Given the description of an element on the screen output the (x, y) to click on. 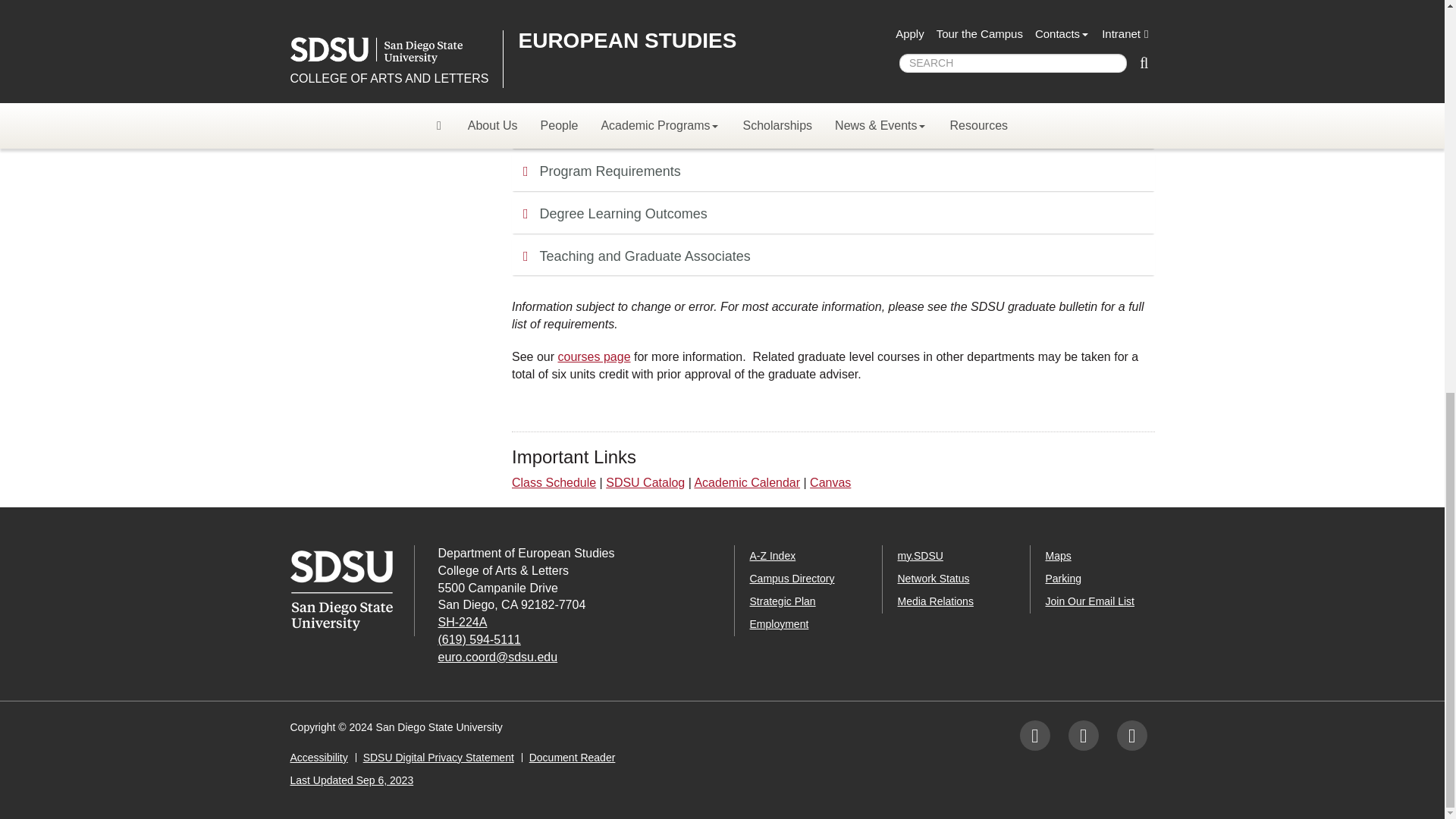
Departments and Offices (771, 555)
San Diego State University (351, 590)
Jobs (778, 623)
